Given the description of an element on the screen output the (x, y) to click on. 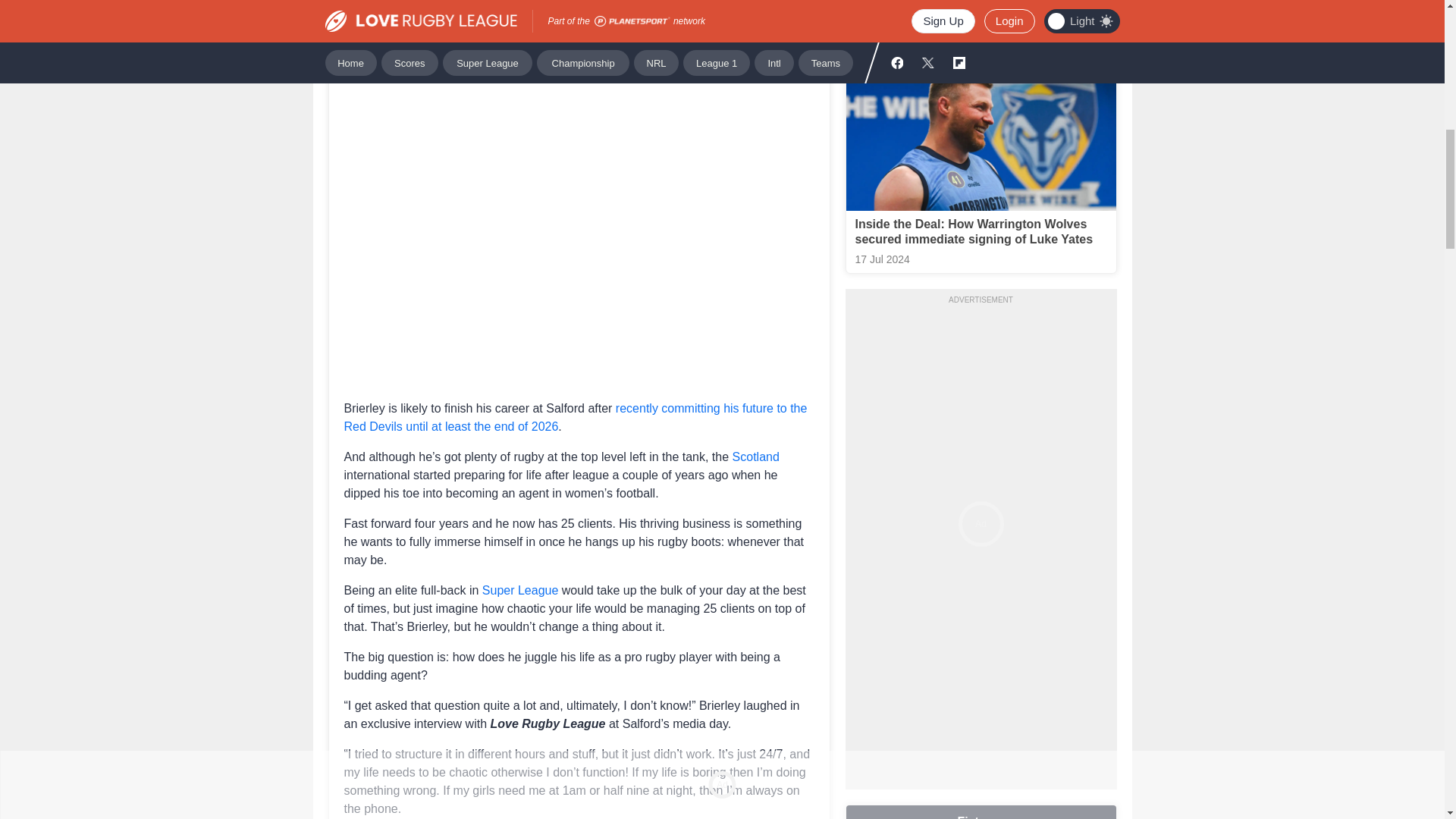
Salford (780, 25)
